Given the description of an element on the screen output the (x, y) to click on. 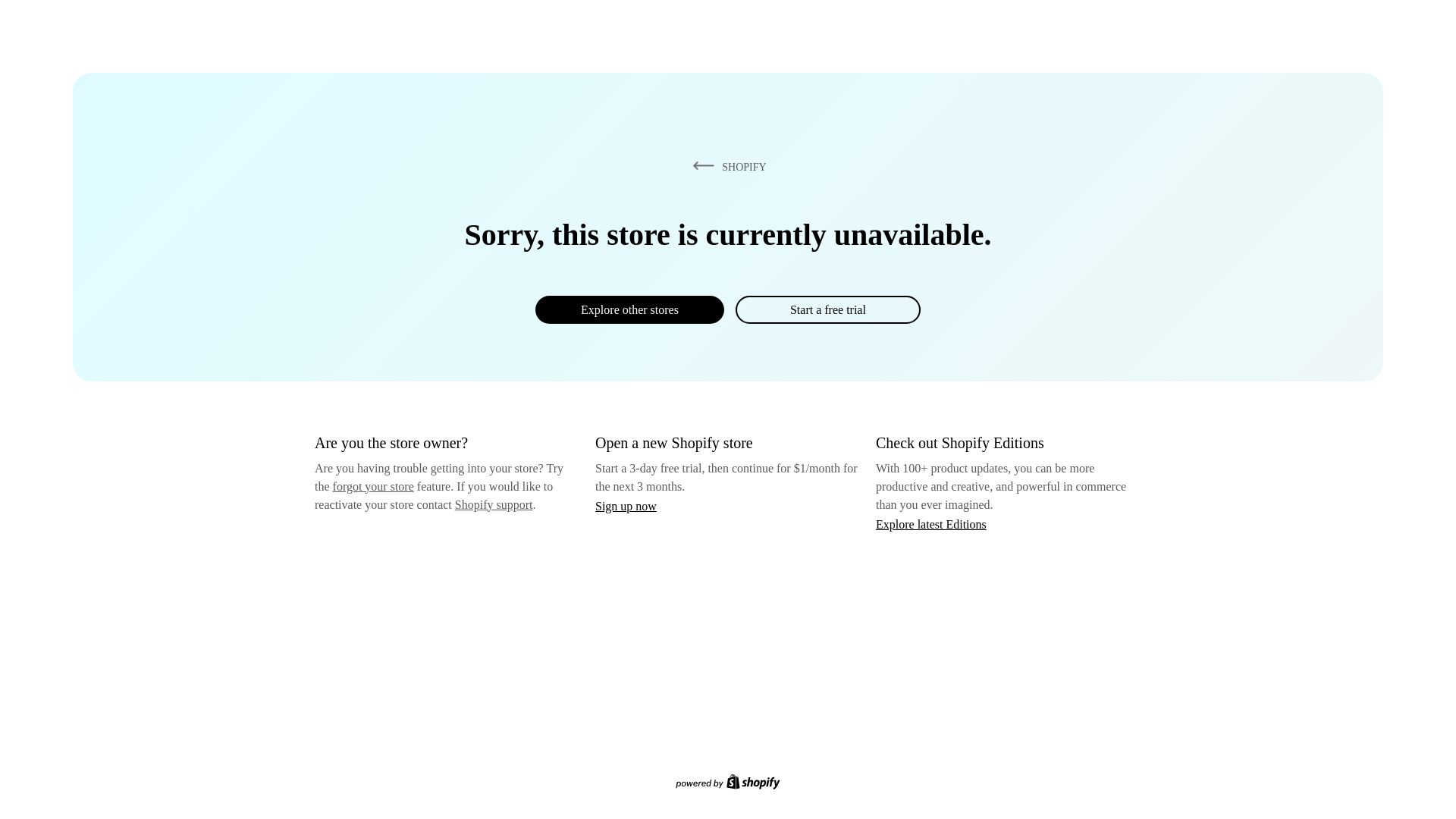
Explore other stores (629, 309)
Shopify support (493, 504)
Explore latest Editions (931, 523)
forgot your store (373, 486)
Start a free trial (827, 309)
Sign up now (625, 505)
SHOPIFY (726, 166)
